Given the description of an element on the screen output the (x, y) to click on. 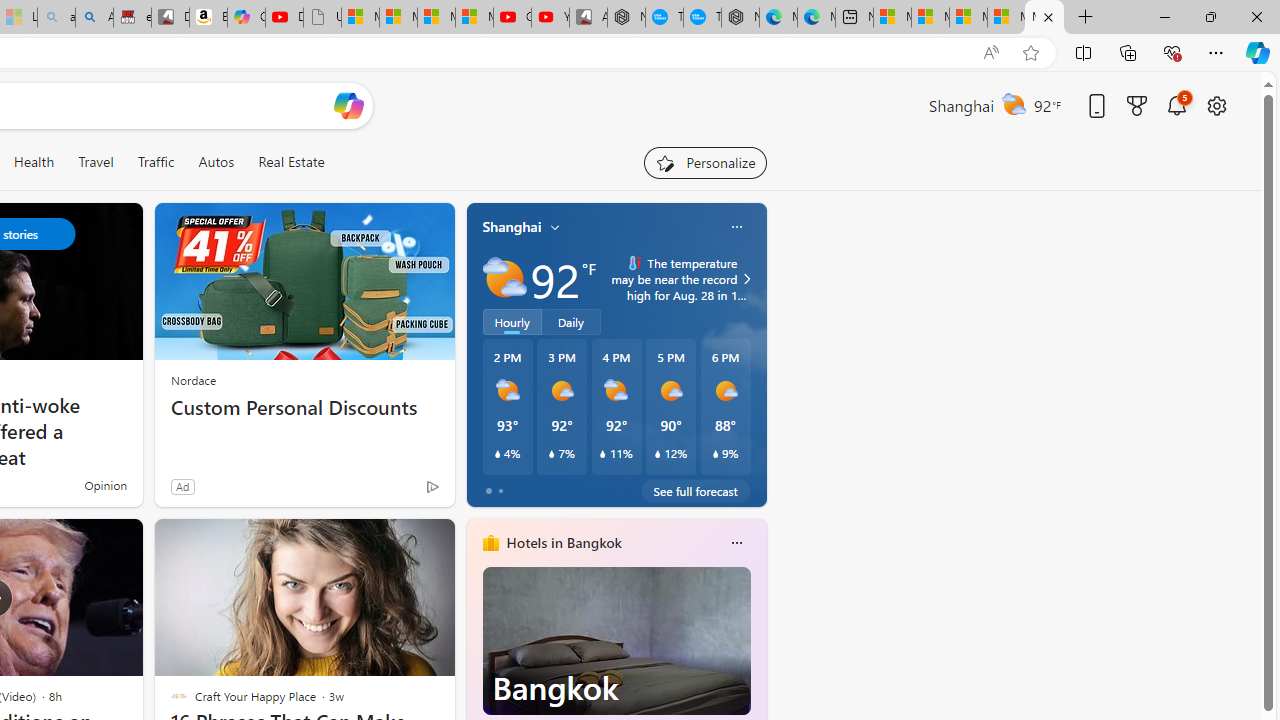
The most popular Google 'how to' searches (701, 17)
Hourly (511, 321)
next (756, 670)
Amazon Echo Dot PNG - Search Images (93, 17)
previous (476, 670)
Autos (215, 161)
Autos (216, 162)
Microsoft account | Microsoft Account Privacy Settings (929, 17)
